Given the description of an element on the screen output the (x, y) to click on. 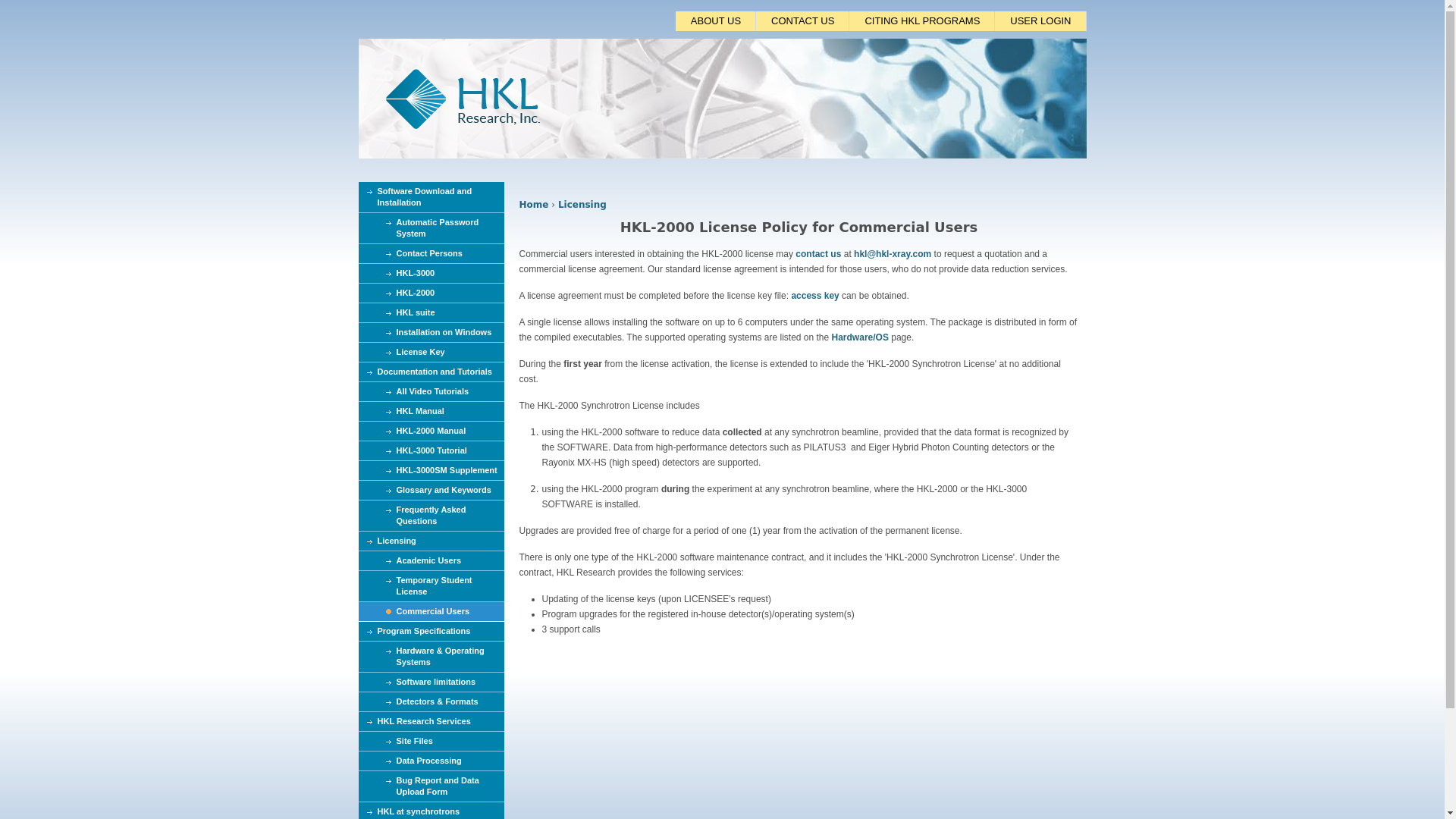
Bug Report and Data Upload Form (430, 786)
Data Processing (430, 761)
Documentation and Tutorials (430, 372)
Software Download and Installation (430, 196)
HKL-3000SM Supplement (430, 470)
Frequently Asked Questions (430, 515)
Glossary (430, 490)
HKL suite (430, 312)
HKL-2000 (430, 293)
Licensing (582, 204)
Glossary and Keywords (430, 490)
Obtaining an appropriate site file (430, 741)
CITING HKL PROGRAMS (921, 21)
Downloading and installation instructions for HKL-3000 (430, 273)
Academic Users (430, 560)
